Given the description of an element on the screen output the (x, y) to click on. 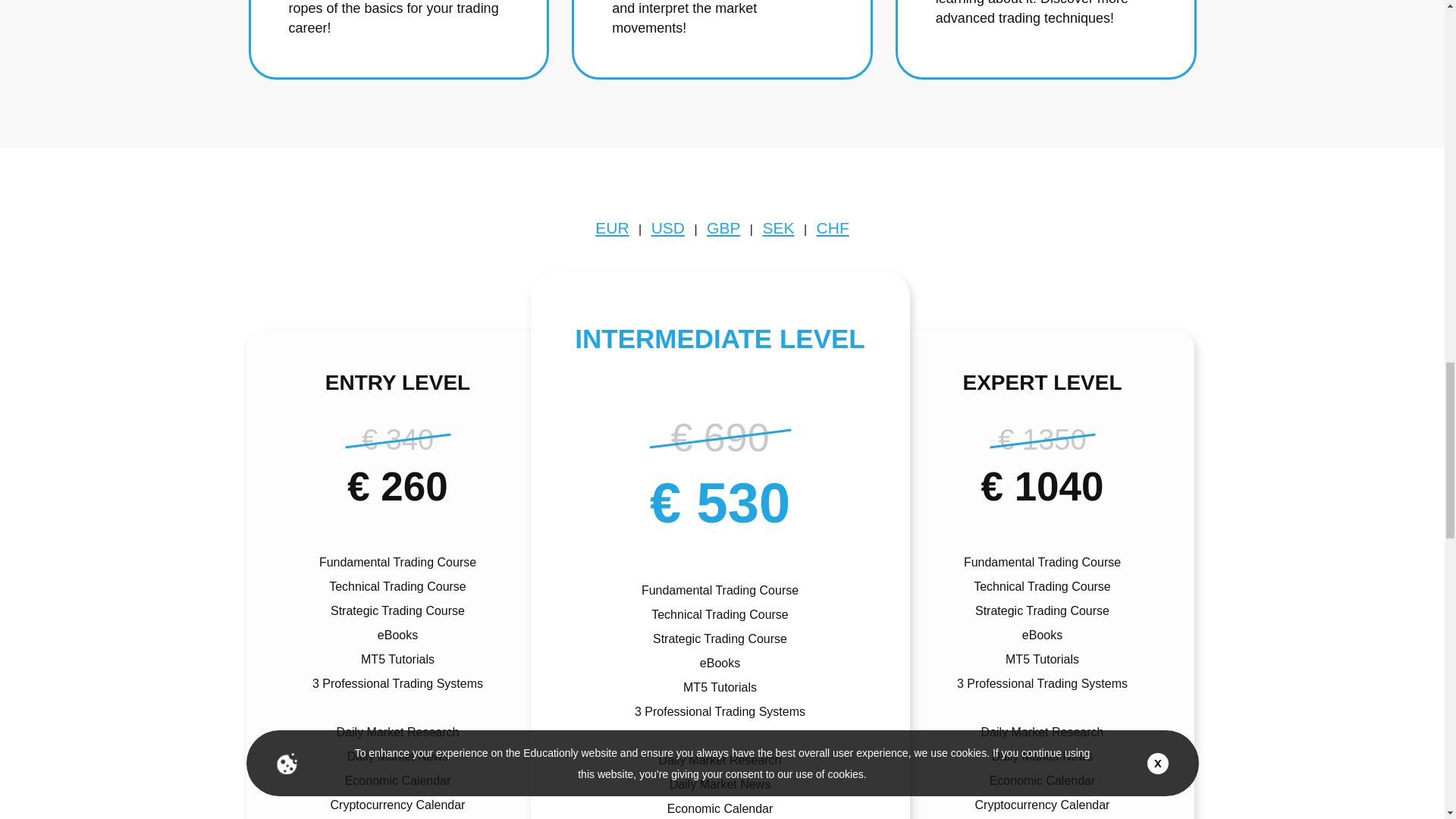
GBP (722, 227)
SEK (777, 227)
USD (667, 227)
CHF (832, 227)
EUR (611, 227)
